Given the description of an element on the screen output the (x, y) to click on. 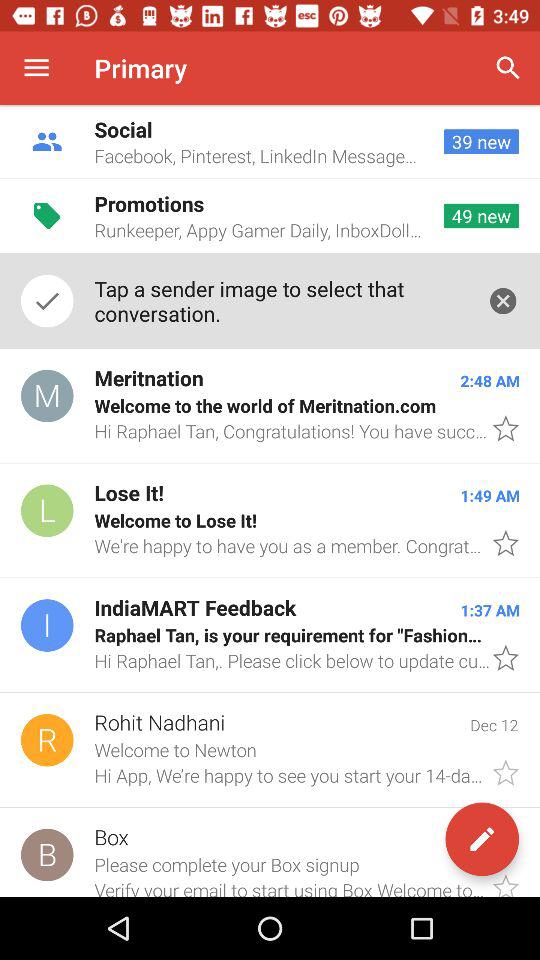
launch the icon next to the primary (508, 67)
